Given the description of an element on the screen output the (x, y) to click on. 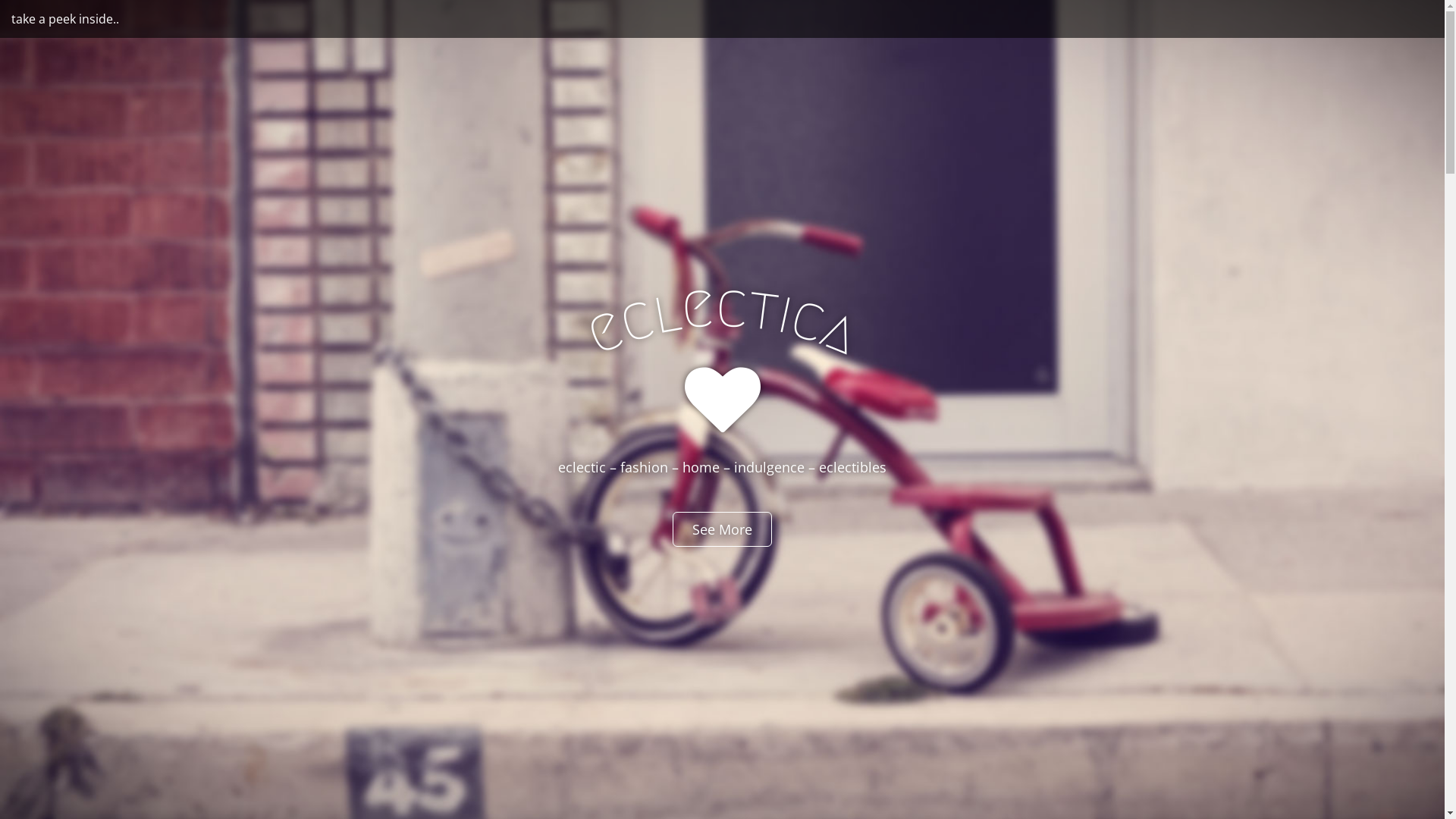
See More Element type: text (721, 528)
eclectica Element type: text (722, 305)
take a peek inside.. Element type: text (65, 18)
